Given the description of an element on the screen output the (x, y) to click on. 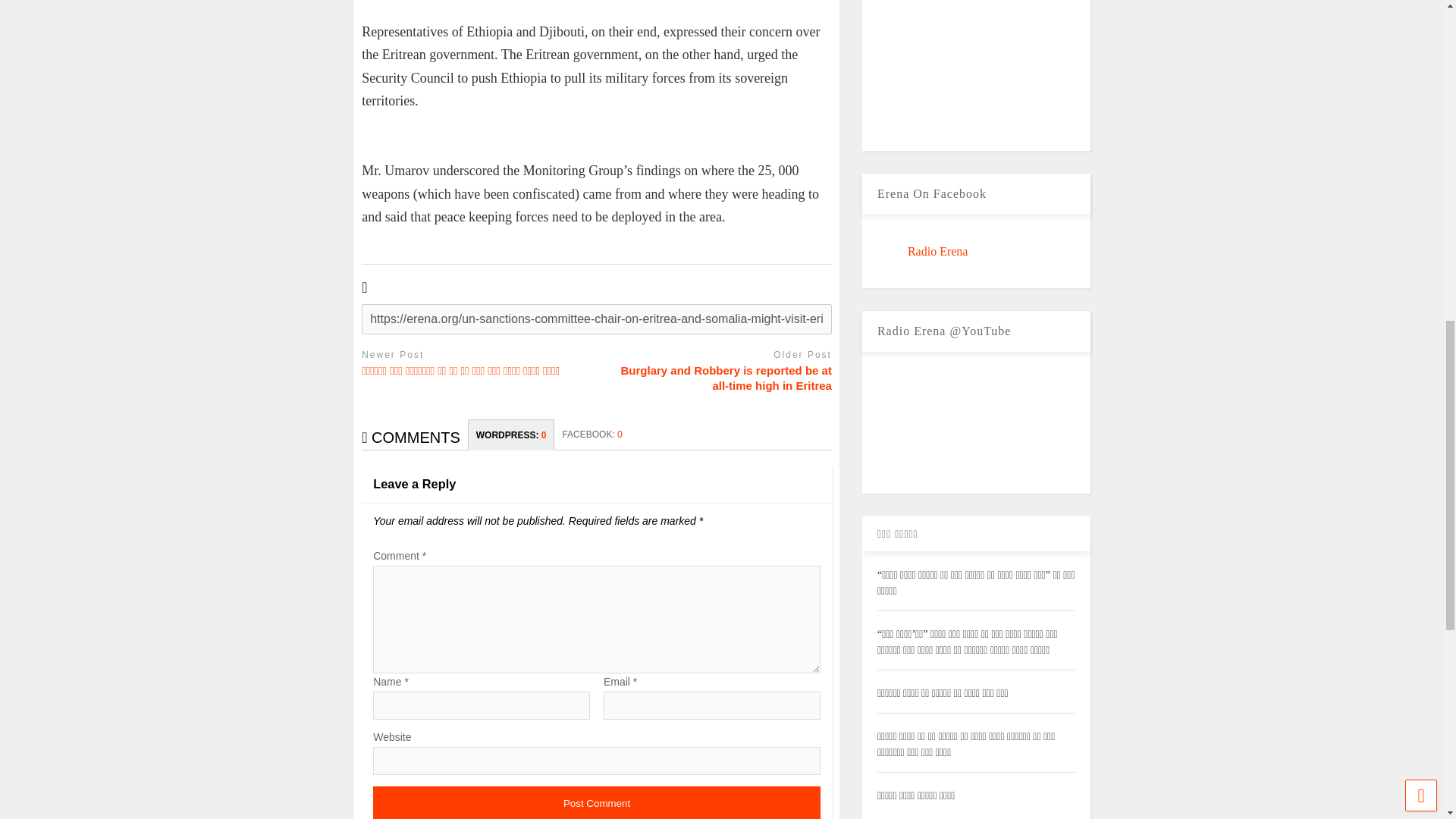
YouTube player (976, 423)
Post Comment (596, 802)
